Given the description of an element on the screen output the (x, y) to click on. 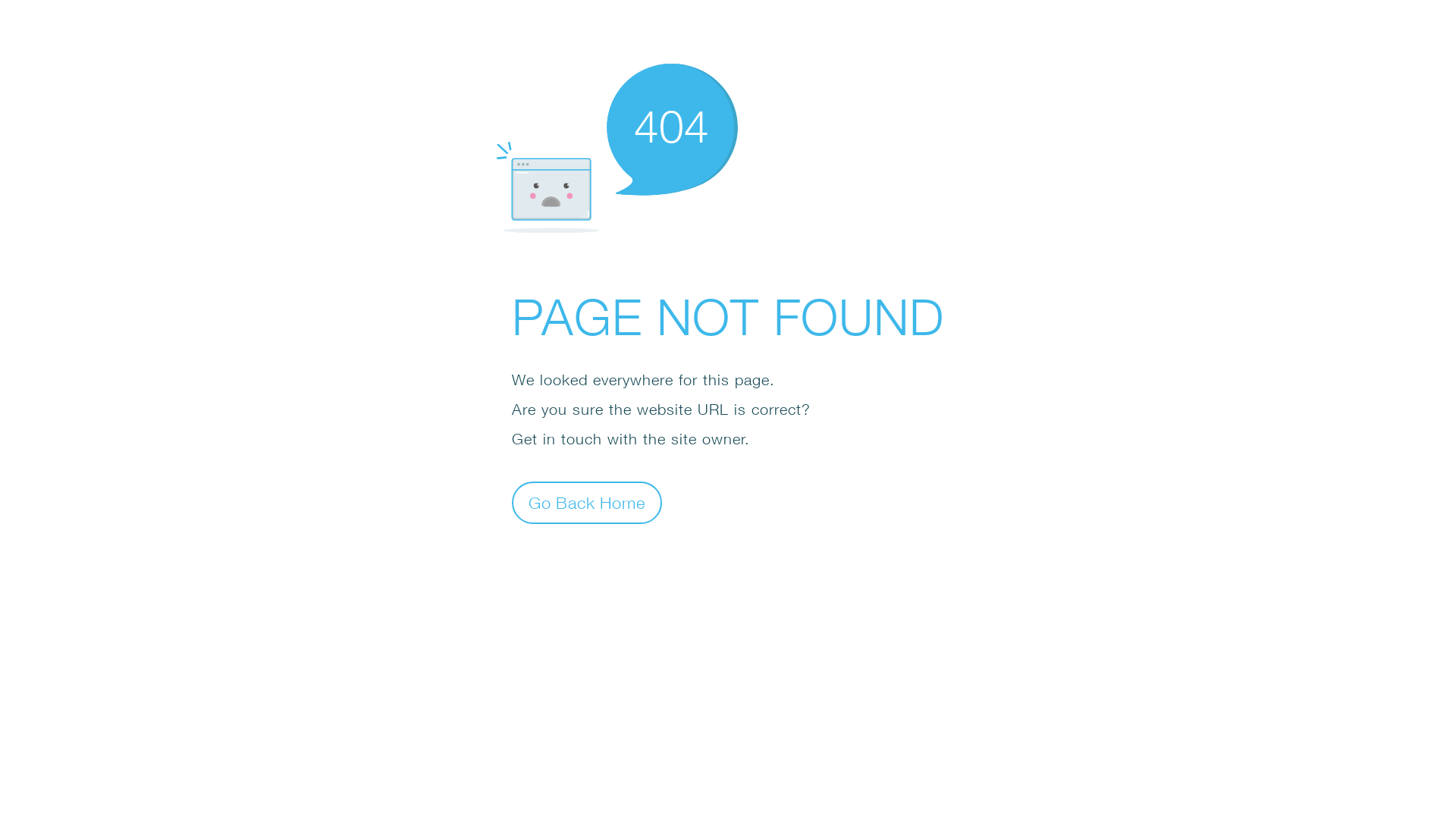
Go Back Home Element type: text (586, 502)
